Given the description of an element on the screen output the (x, y) to click on. 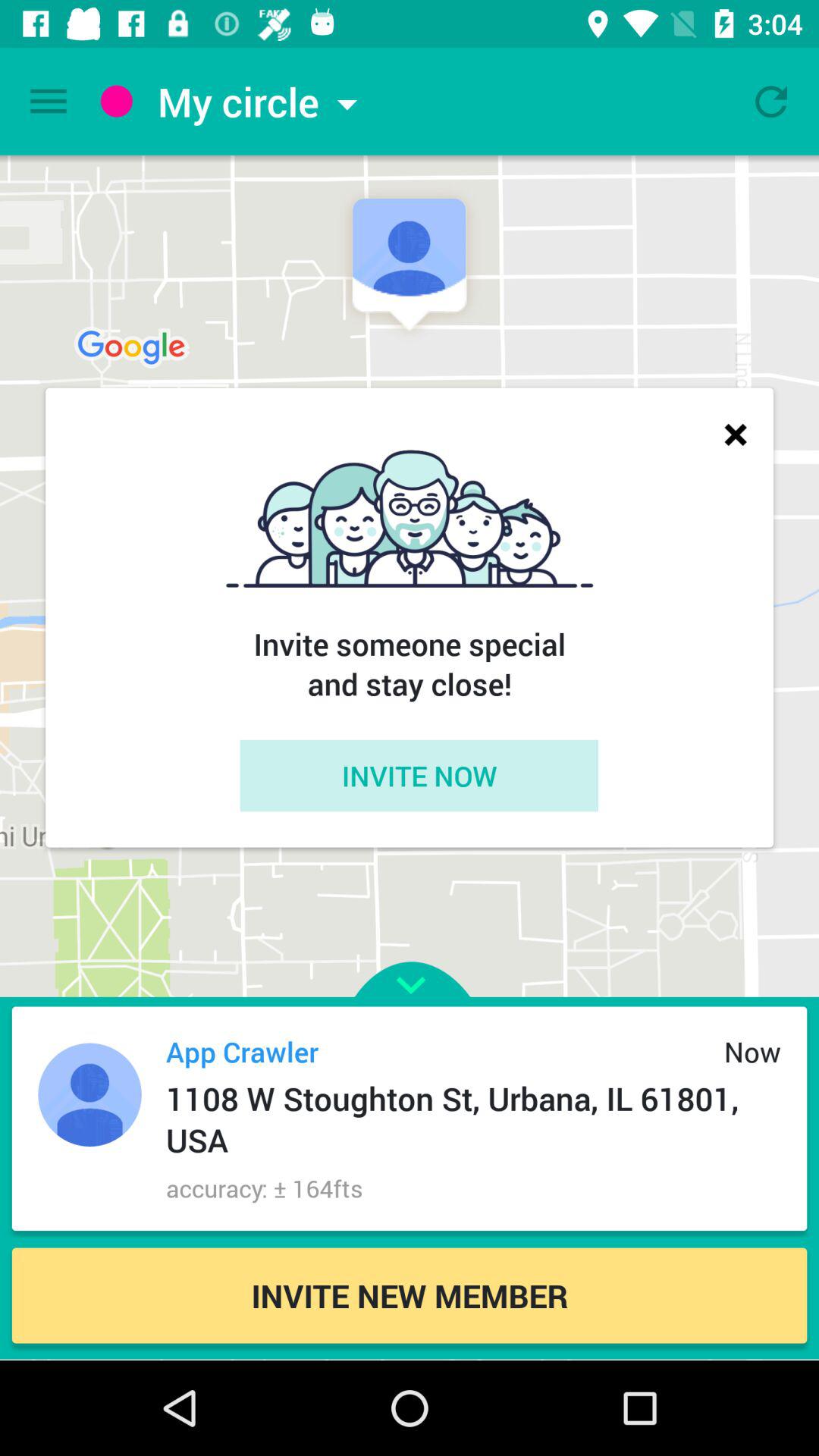
close (735, 434)
